Given the description of an element on the screen output the (x, y) to click on. 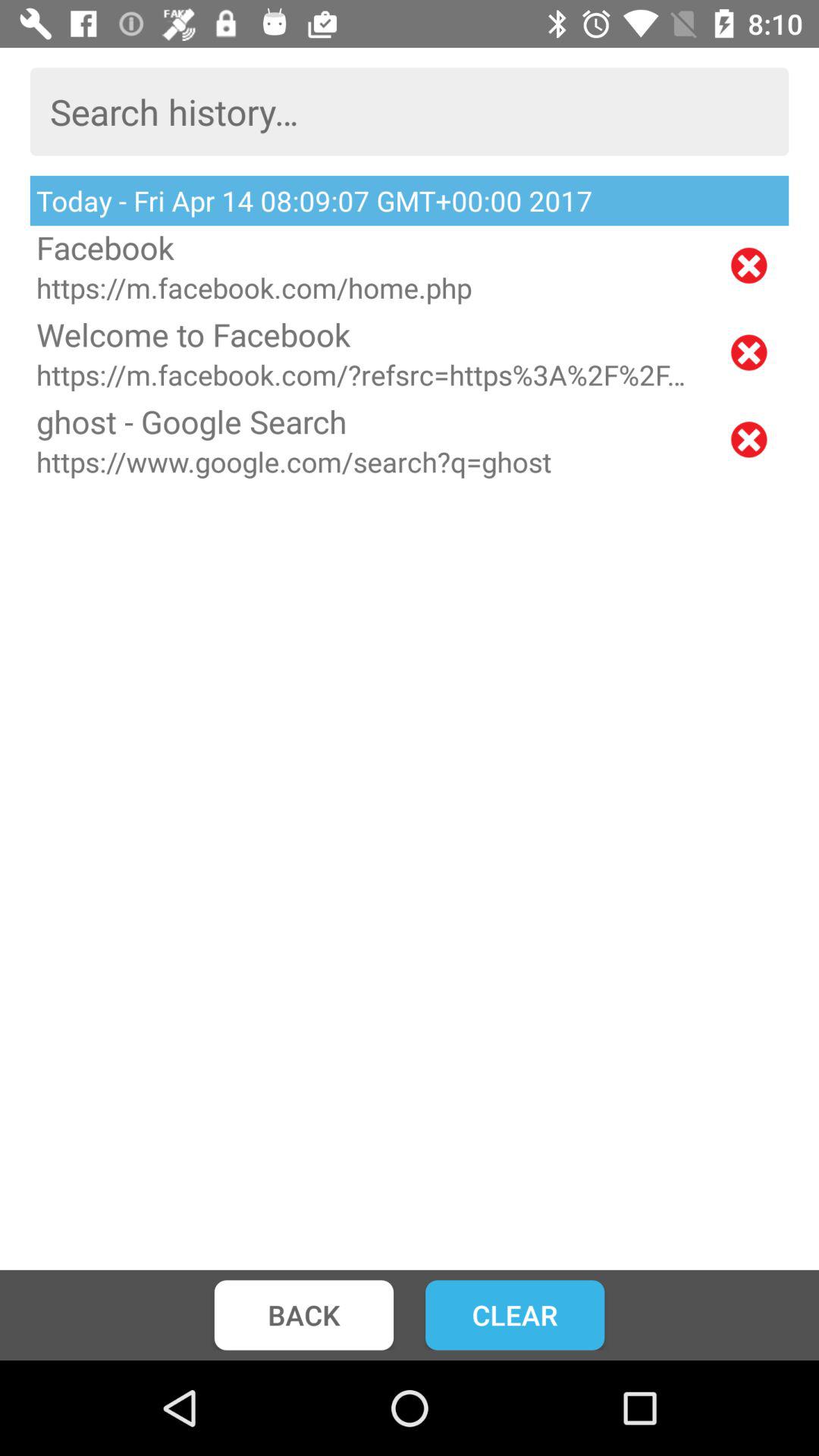
click welcome to facebook (369, 334)
